Given the description of an element on the screen output the (x, y) to click on. 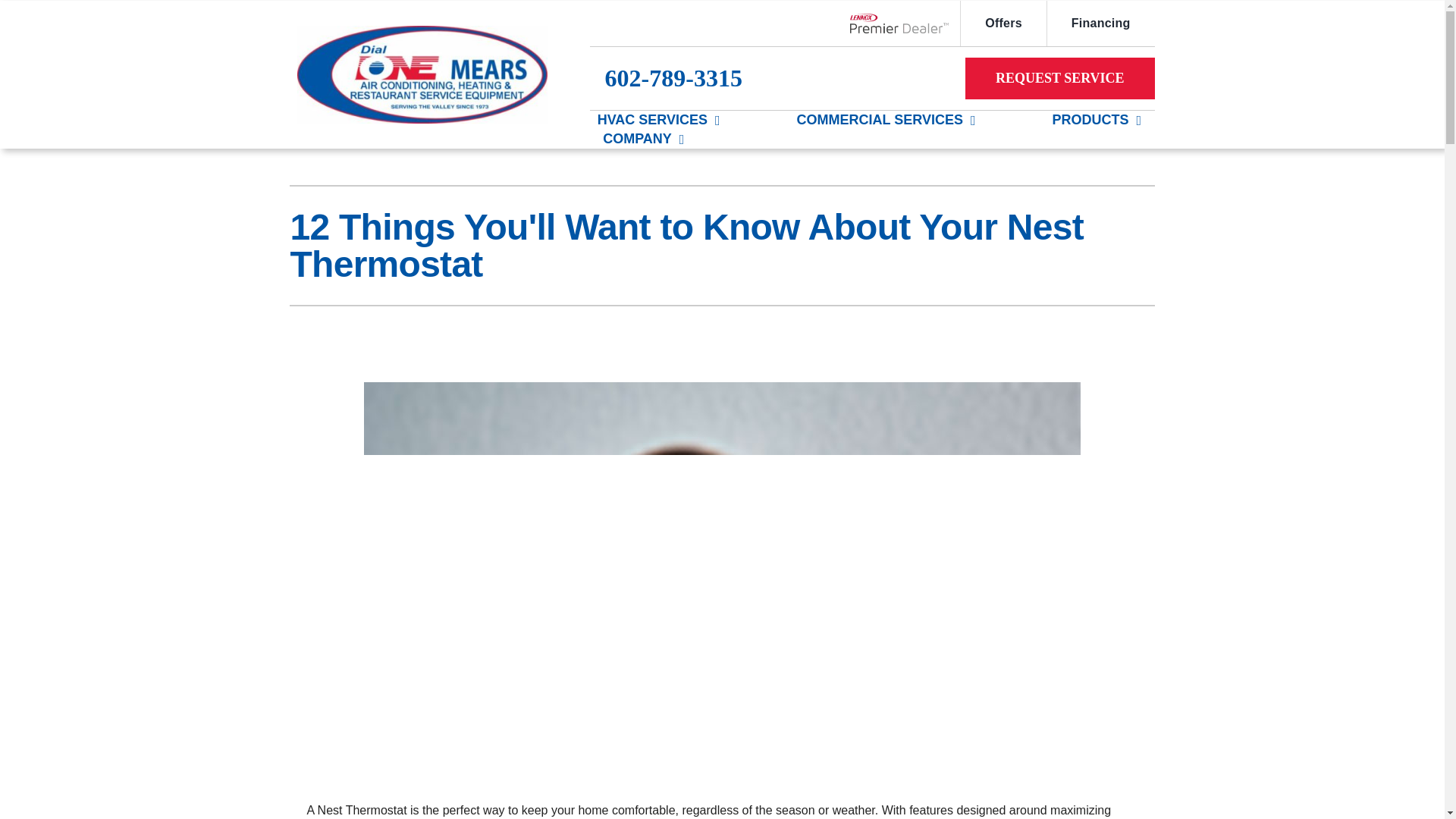
HVAC SERVICES (651, 119)
PRODUCTS (1089, 119)
REQUEST SERVICE (1059, 78)
Offers (1002, 22)
Financing (1100, 22)
COMMERCIAL SERVICES (880, 119)
